Given the description of an element on the screen output the (x, y) to click on. 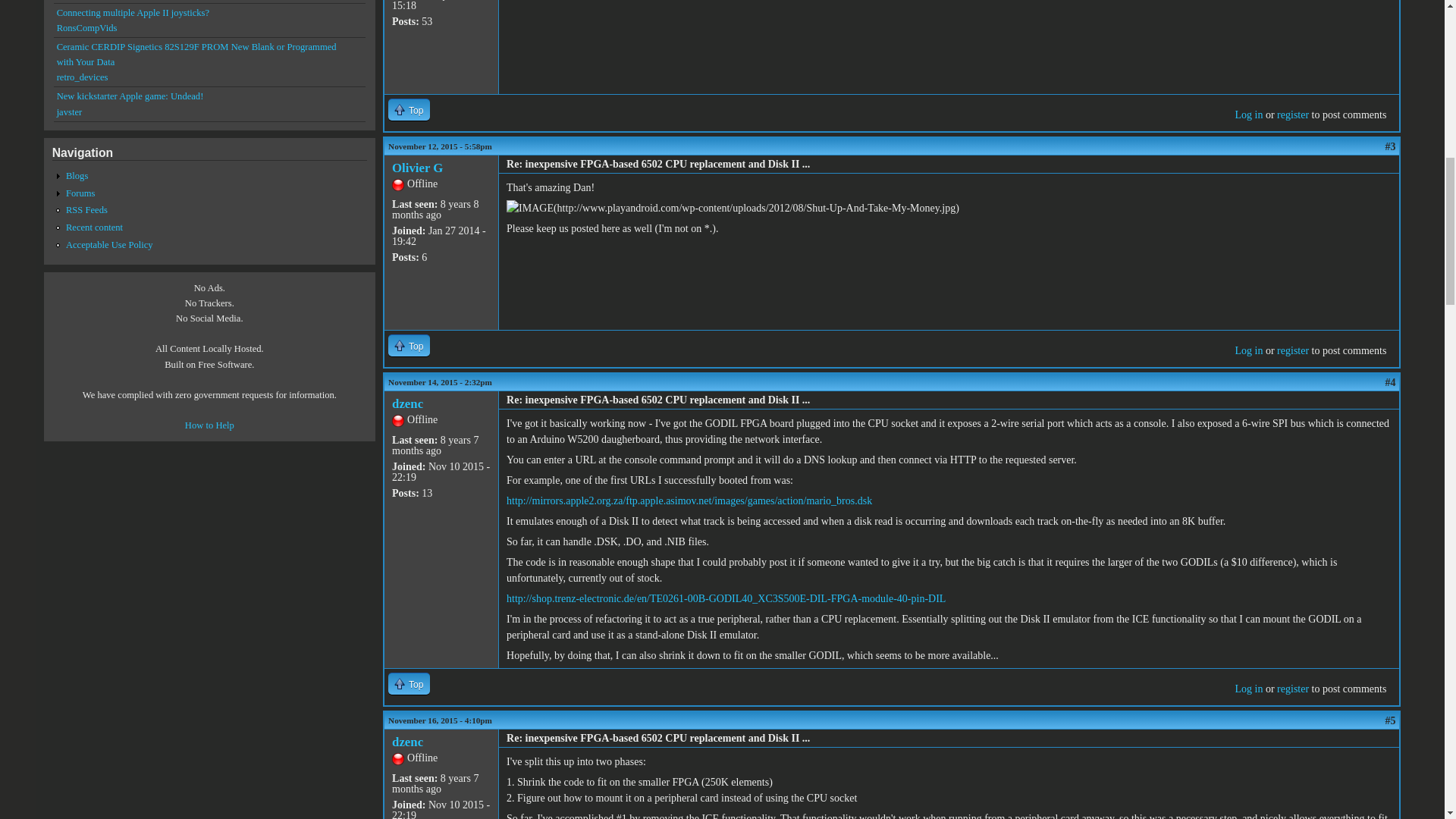
Log in (1248, 350)
Top (408, 109)
View user profile. (416, 167)
dzenc (407, 403)
register (1292, 350)
Olivier G (416, 167)
View user profile. (407, 741)
register (1292, 114)
Jump to top of page (408, 683)
Jump to top of page (408, 345)
Log in (1248, 114)
Jump to top of page (408, 109)
View user profile. (407, 403)
Top (408, 345)
